Given the description of an element on the screen output the (x, y) to click on. 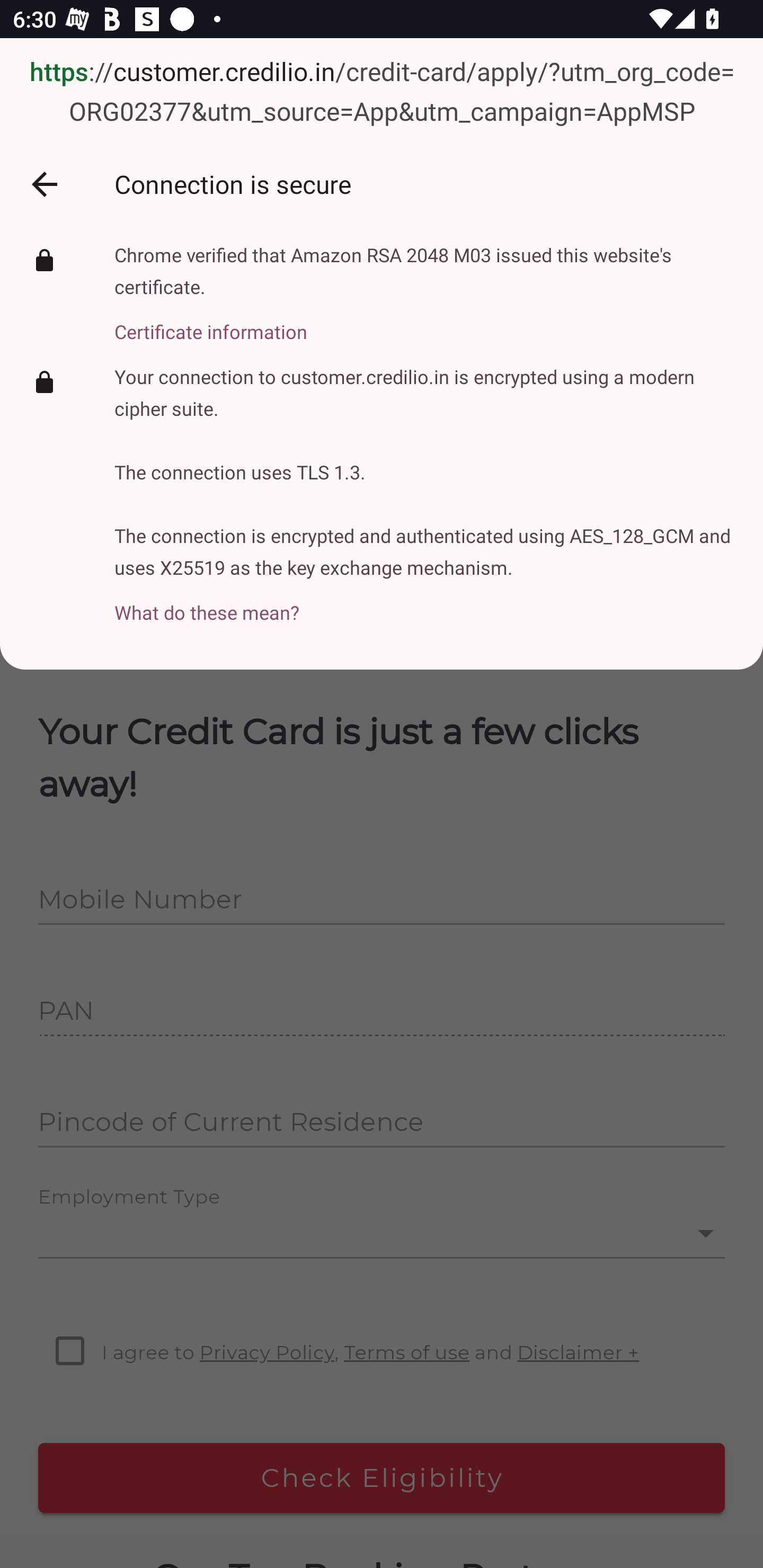
Back (44, 183)
Certificate information (425, 321)
What do these mean? (425, 602)
